Given the description of an element on the screen output the (x, y) to click on. 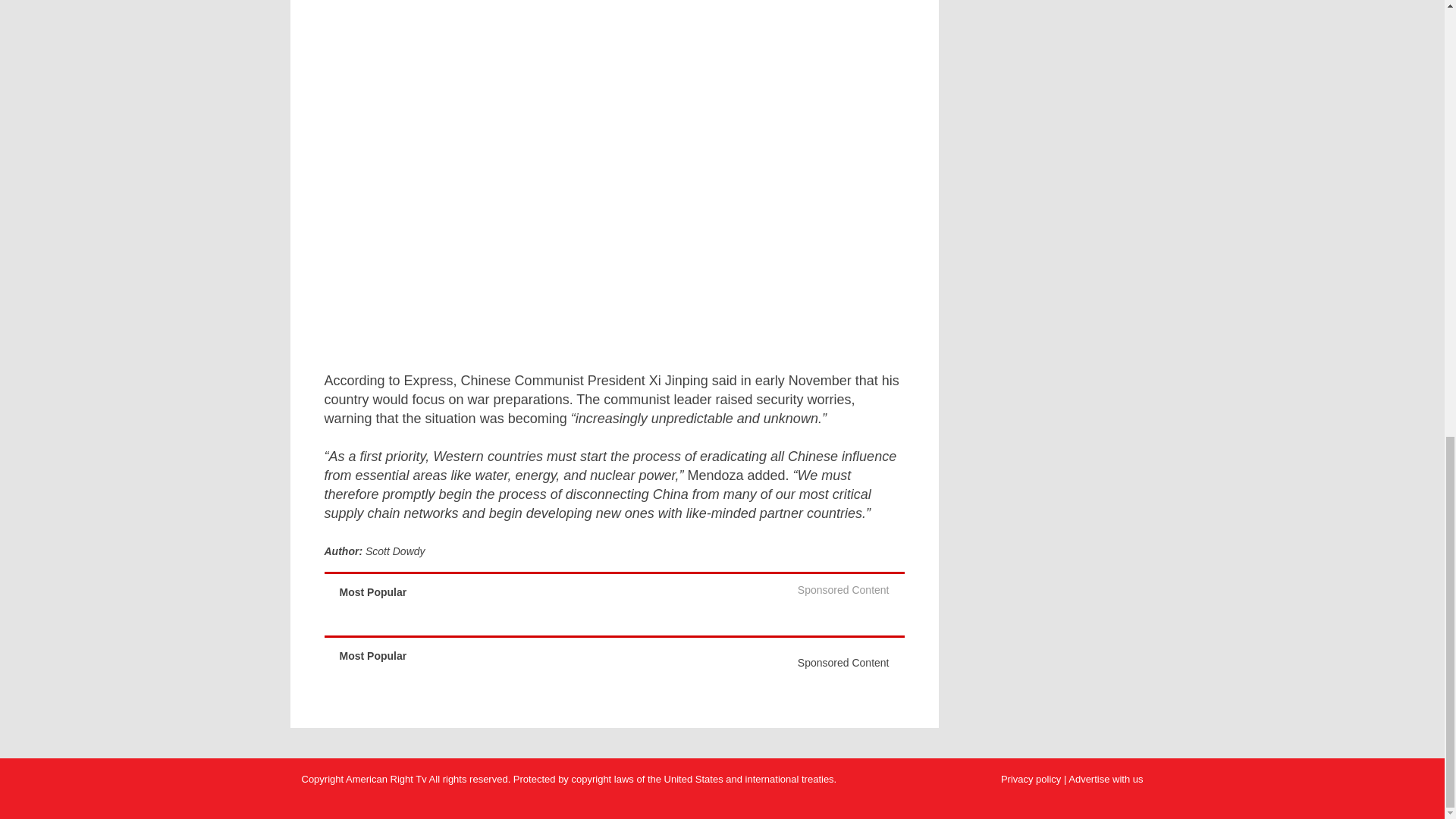
Privacy policy (1031, 778)
Advertise with us (1105, 778)
